Given the description of an element on the screen output the (x, y) to click on. 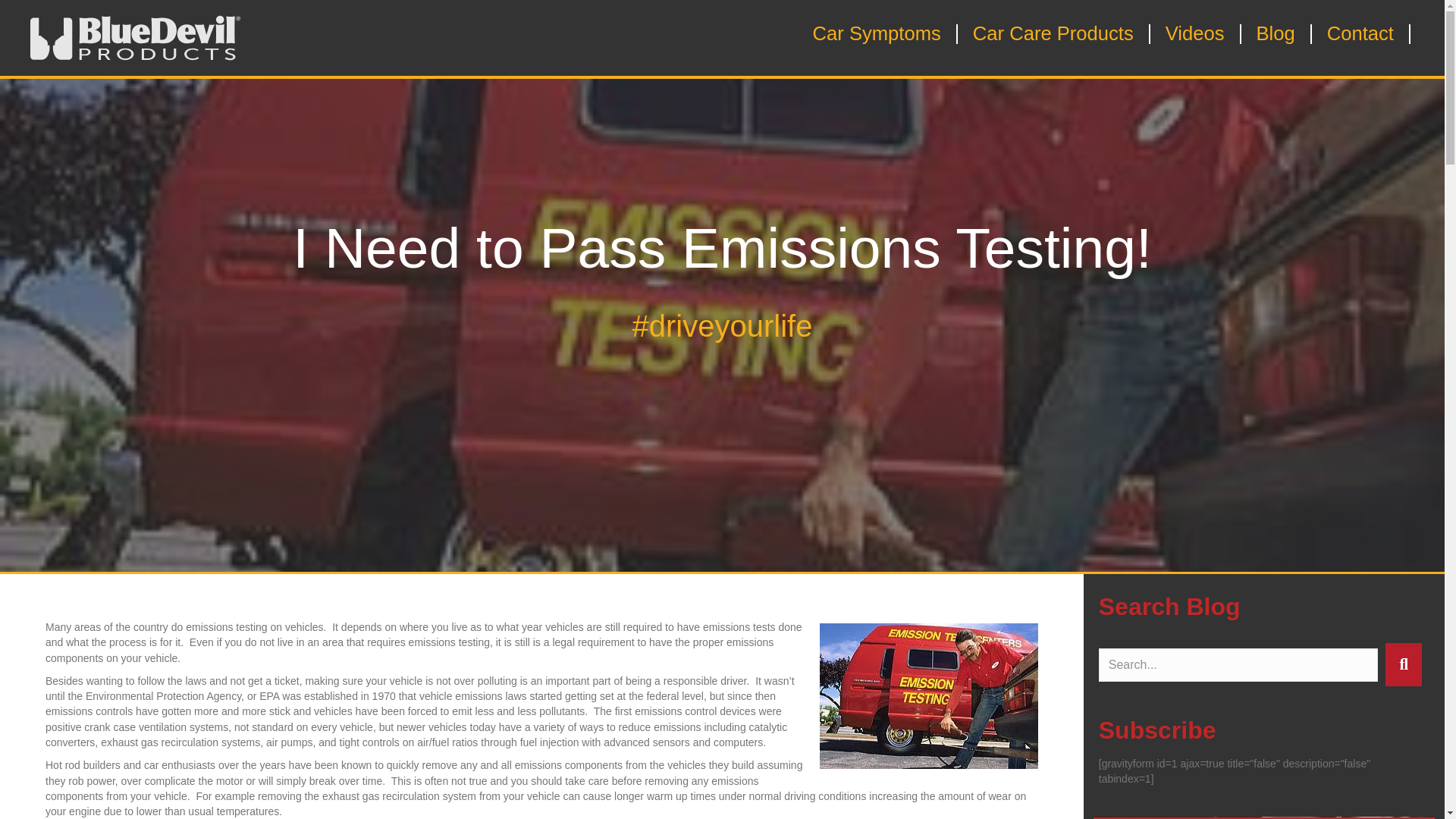
Contact (1364, 34)
Blog (1280, 34)
Car Symptoms (881, 34)
Car Care Products (1057, 34)
Videos (1199, 34)
gobdp-logo (135, 37)
